Given the description of an element on the screen output the (x, y) to click on. 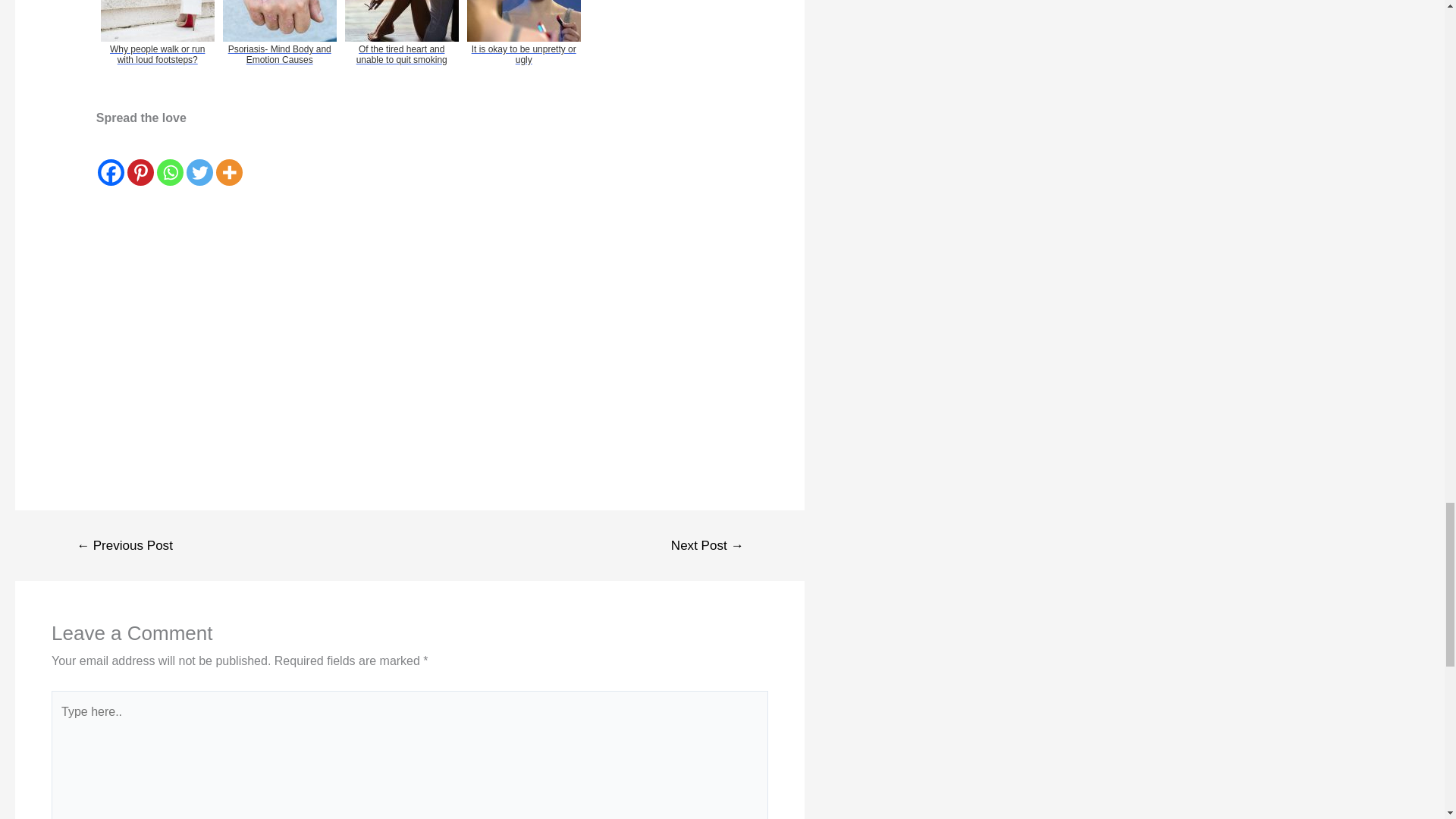
Why people walk or run with loud footsteps? (157, 51)
Psoriasis- Mind Body and Emotion Causes (279, 51)
It is okay to be unpretty or ugly (524, 51)
YouTube video player (308, 312)
Of the tired heart and unable to quit smoking (401, 51)
